Given the description of an element on the screen output the (x, y) to click on. 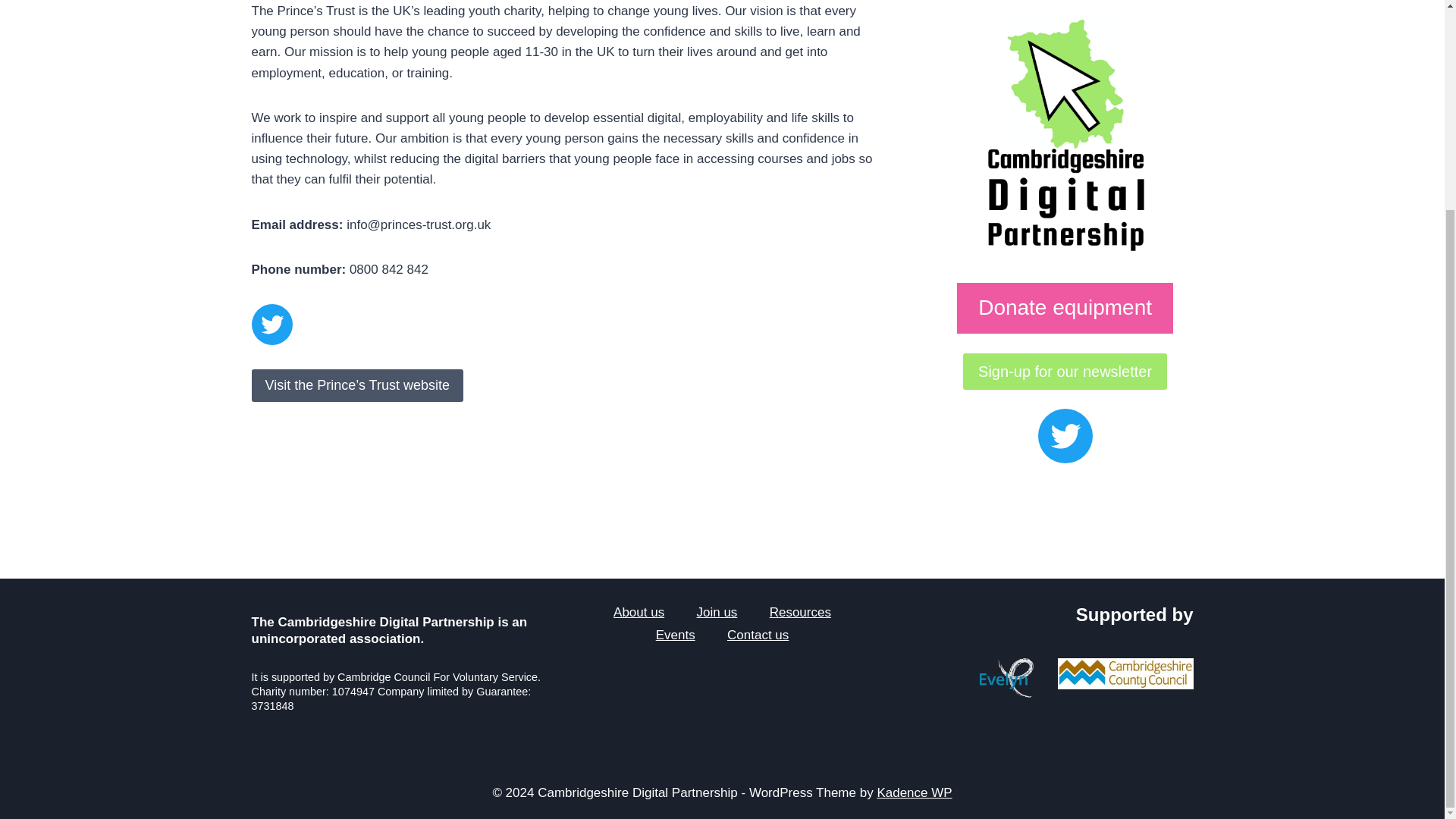
About us (637, 612)
Sign-up for our newsletter (1064, 370)
Resources (800, 612)
Events (675, 635)
Contact us (758, 635)
Donate equipment (1064, 307)
Twitter (1065, 435)
Kadence WP (914, 792)
Twitter (271, 323)
Join us (715, 612)
